Given the description of an element on the screen output the (x, y) to click on. 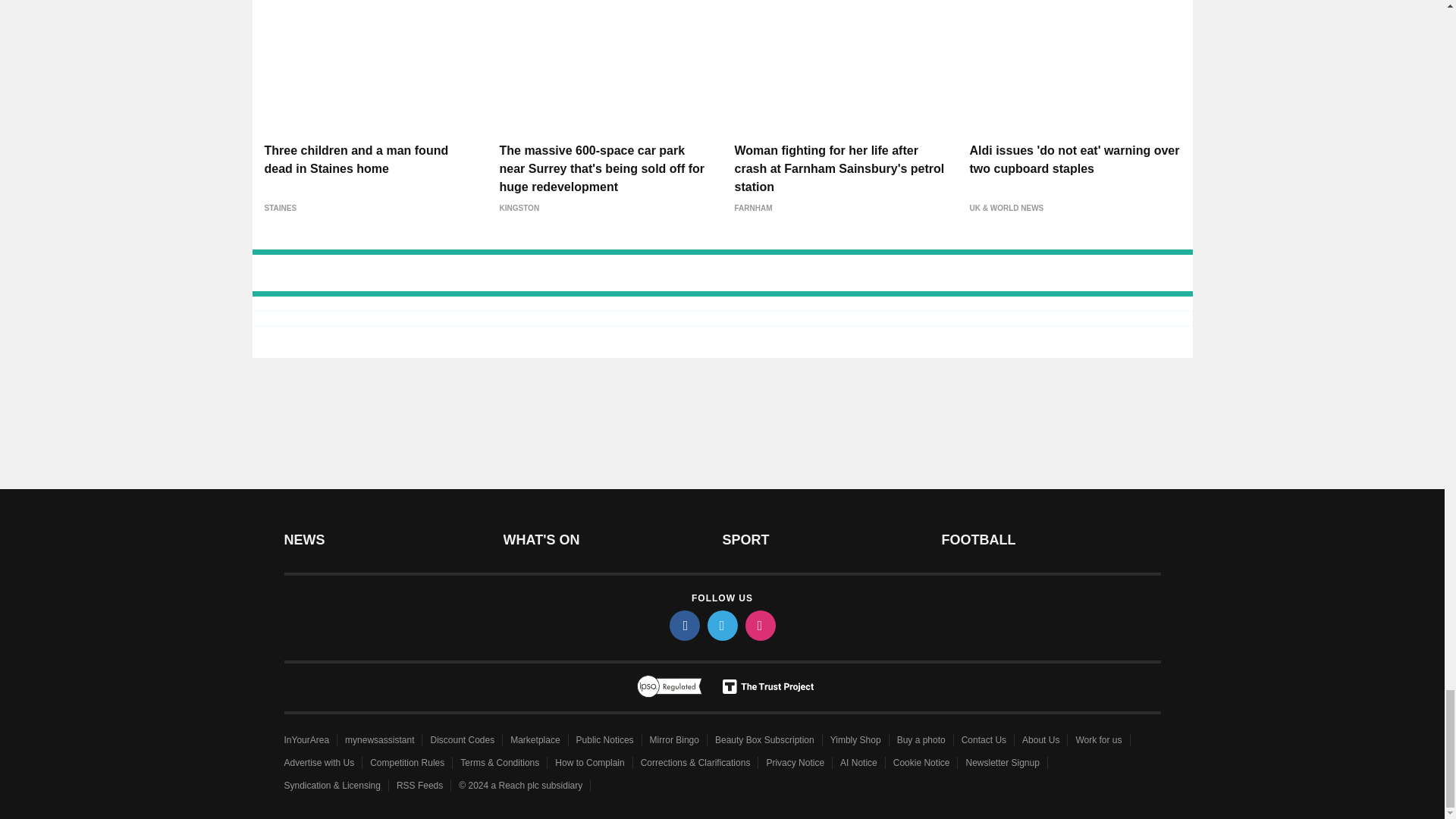
instagram (759, 625)
twitter (721, 625)
facebook (683, 625)
